Given the description of an element on the screen output the (x, y) to click on. 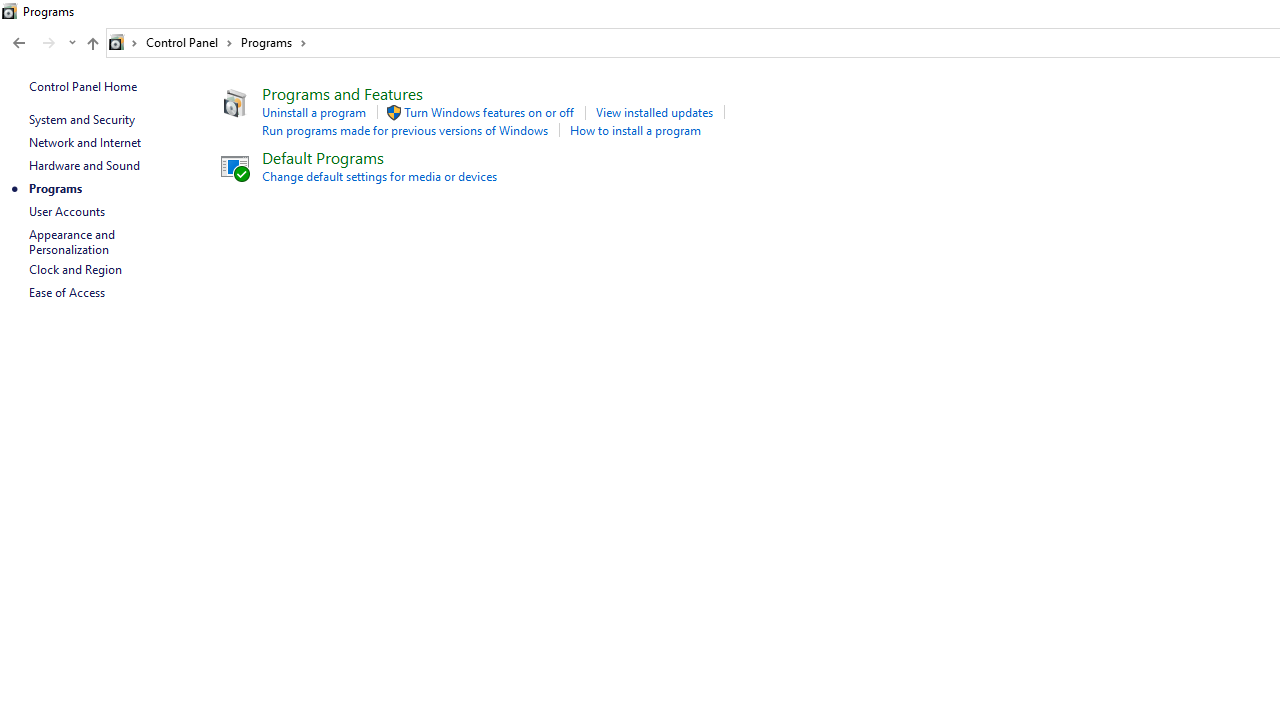
System and Security (81, 119)
Icon (393, 112)
Network and Internet (84, 142)
Programs and Features (341, 92)
Turn Windows features on or off (488, 112)
Back to Hardware and Sound (Alt + Left Arrow) (18, 43)
How to install a program (635, 130)
Default Programs (322, 156)
Ease of Access (66, 292)
Change default settings for media or devices (379, 176)
All locations (124, 42)
Control Panel (189, 42)
Uninstall a program (313, 112)
System (10, 11)
